Given the description of an element on the screen output the (x, y) to click on. 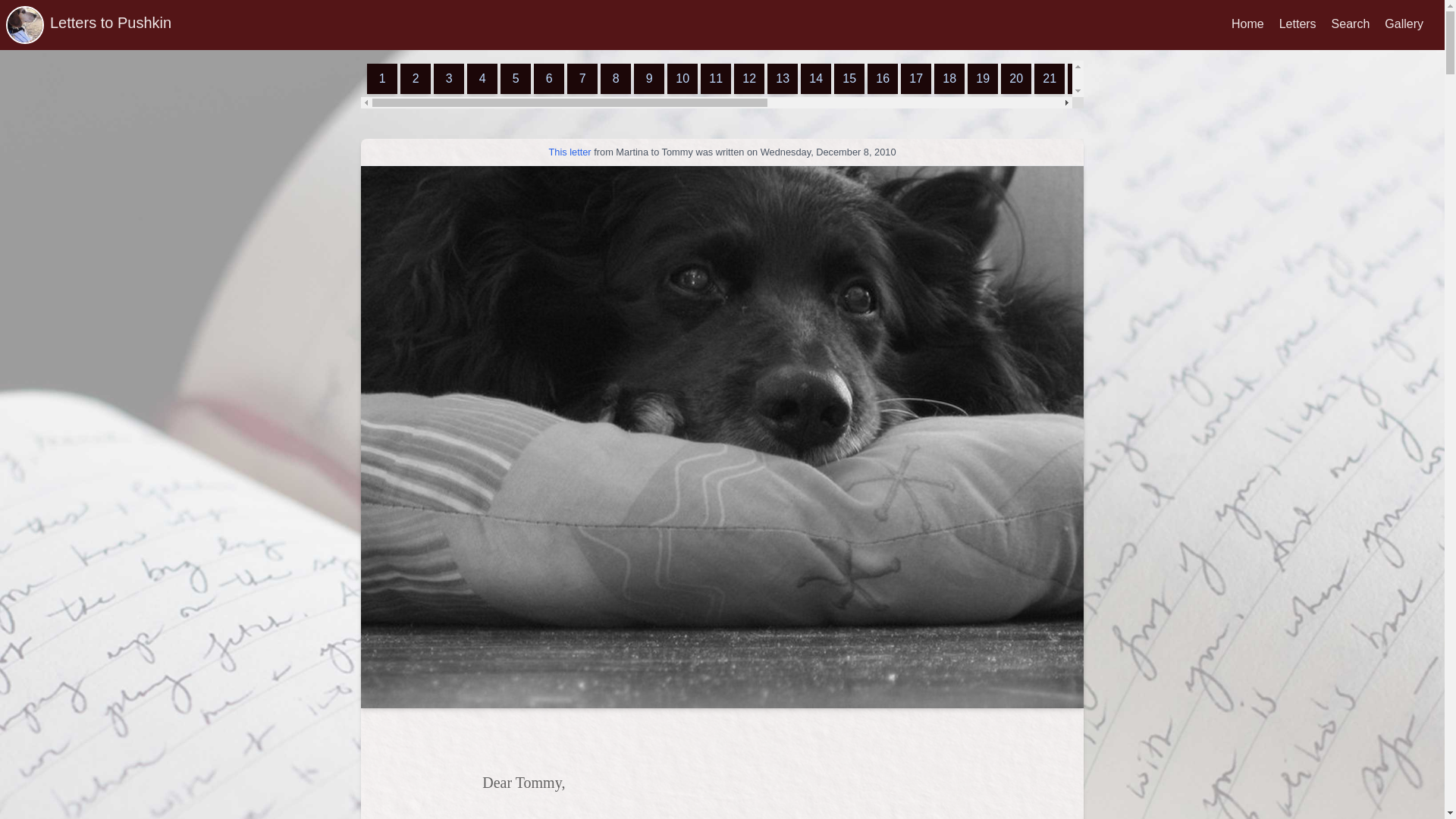
32 (1415, 78)
19 (982, 78)
31 (1382, 78)
7 (581, 78)
2 (415, 78)
25 (1182, 78)
22 (1082, 78)
27 (1249, 78)
3 (448, 78)
24 (1149, 78)
